Given the description of an element on the screen output the (x, y) to click on. 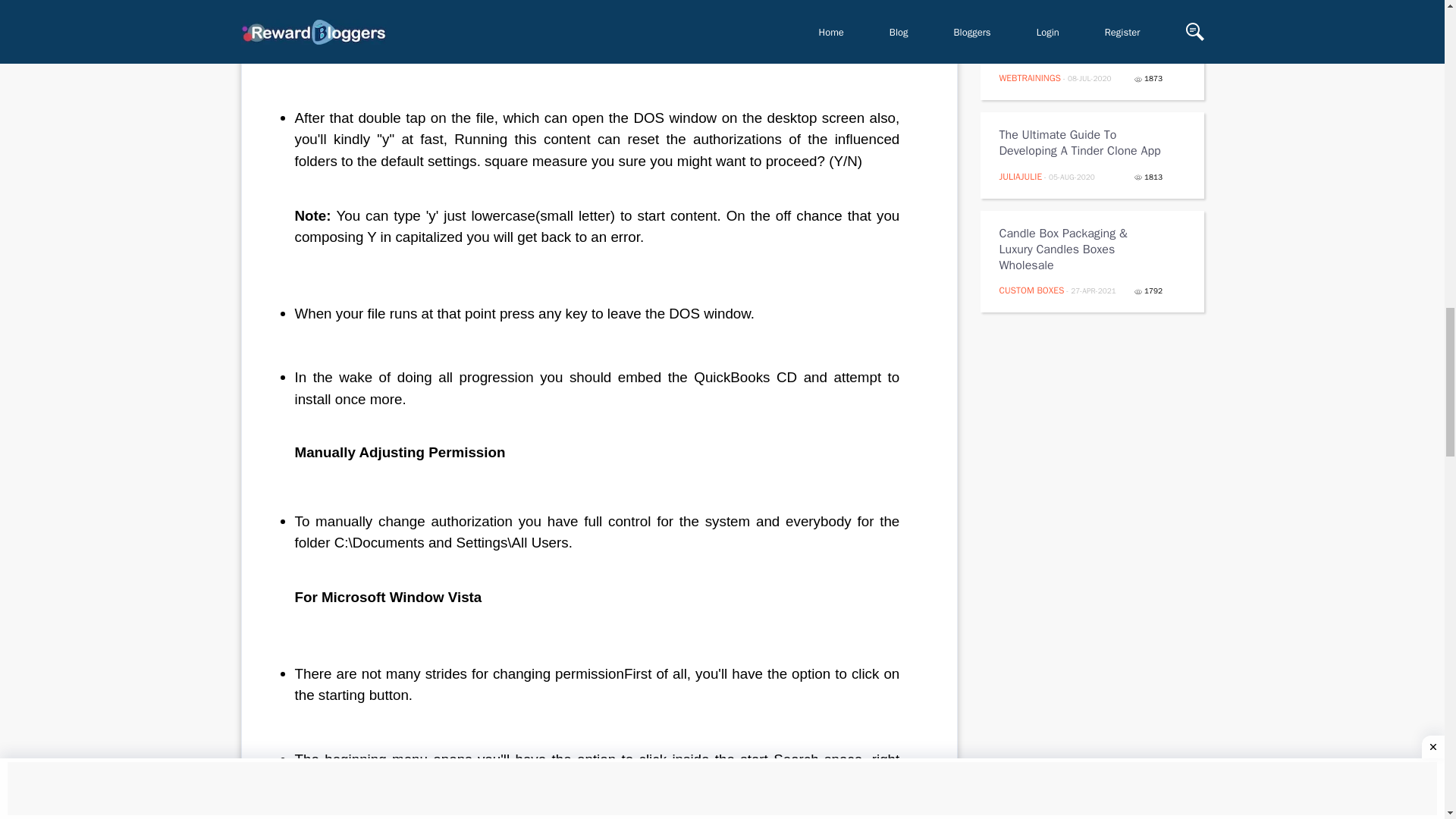
JULIAJULIE (1020, 176)
CUSTOM BOXES (1031, 290)
How Can Digital Marketing Help Me Grow My Business? (1080, 45)
The Ultimate Guide To Developing A Tinder Clone App (1080, 142)
WEBTRAININGS (1029, 78)
